Given the description of an element on the screen output the (x, y) to click on. 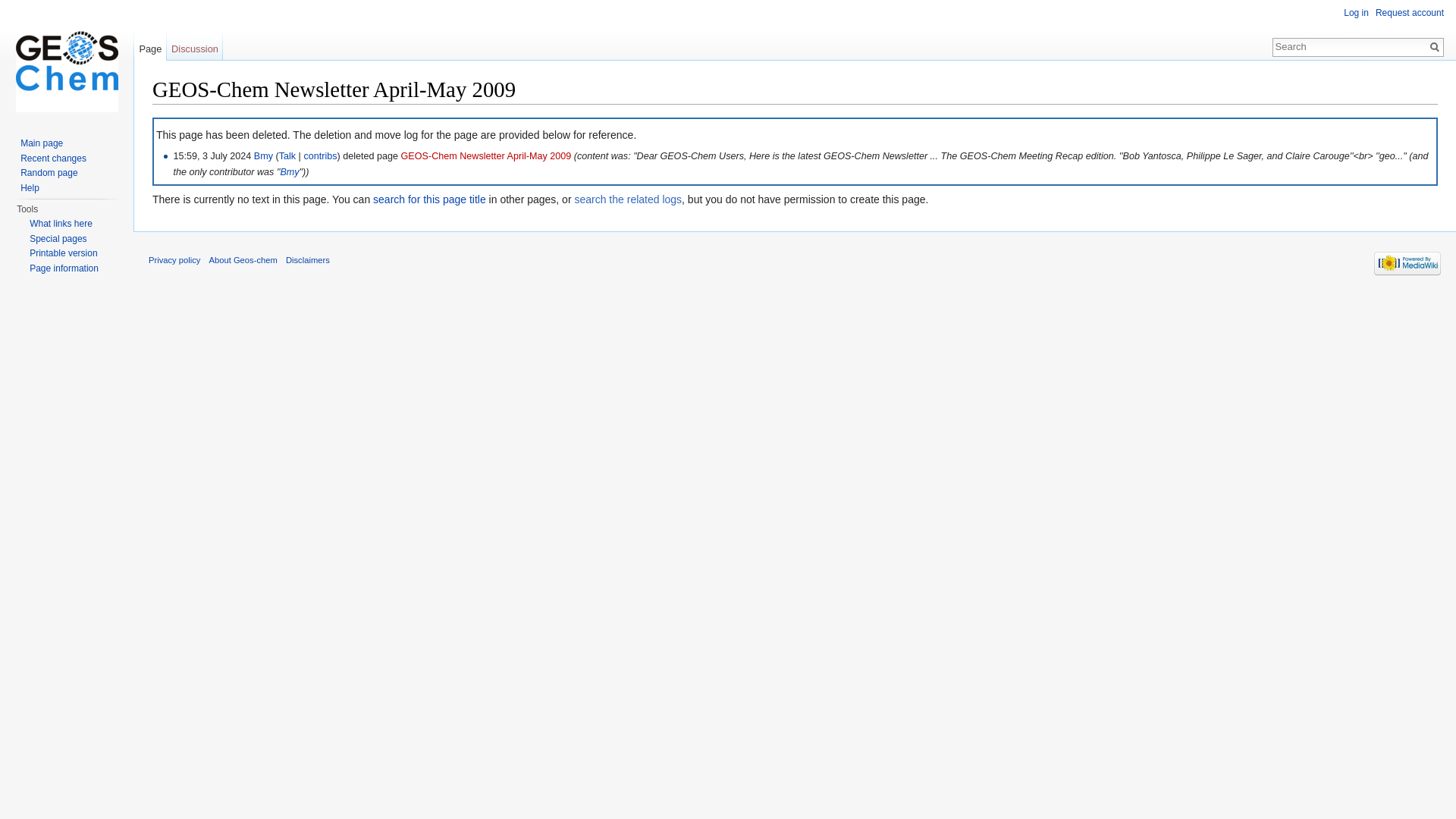
Disclaimers (307, 258)
Go (1434, 46)
Help (29, 186)
Bmy (263, 155)
Page (150, 45)
Random page (48, 172)
search for this page title (429, 199)
Special pages (57, 238)
Page information (64, 267)
Visit the main page (66, 60)
Recent changes (52, 158)
Go (1434, 46)
GEOS-Chem Newsletter April-May 2009 (486, 155)
The place to find out (29, 186)
contribs (319, 155)
